Given the description of an element on the screen output the (x, y) to click on. 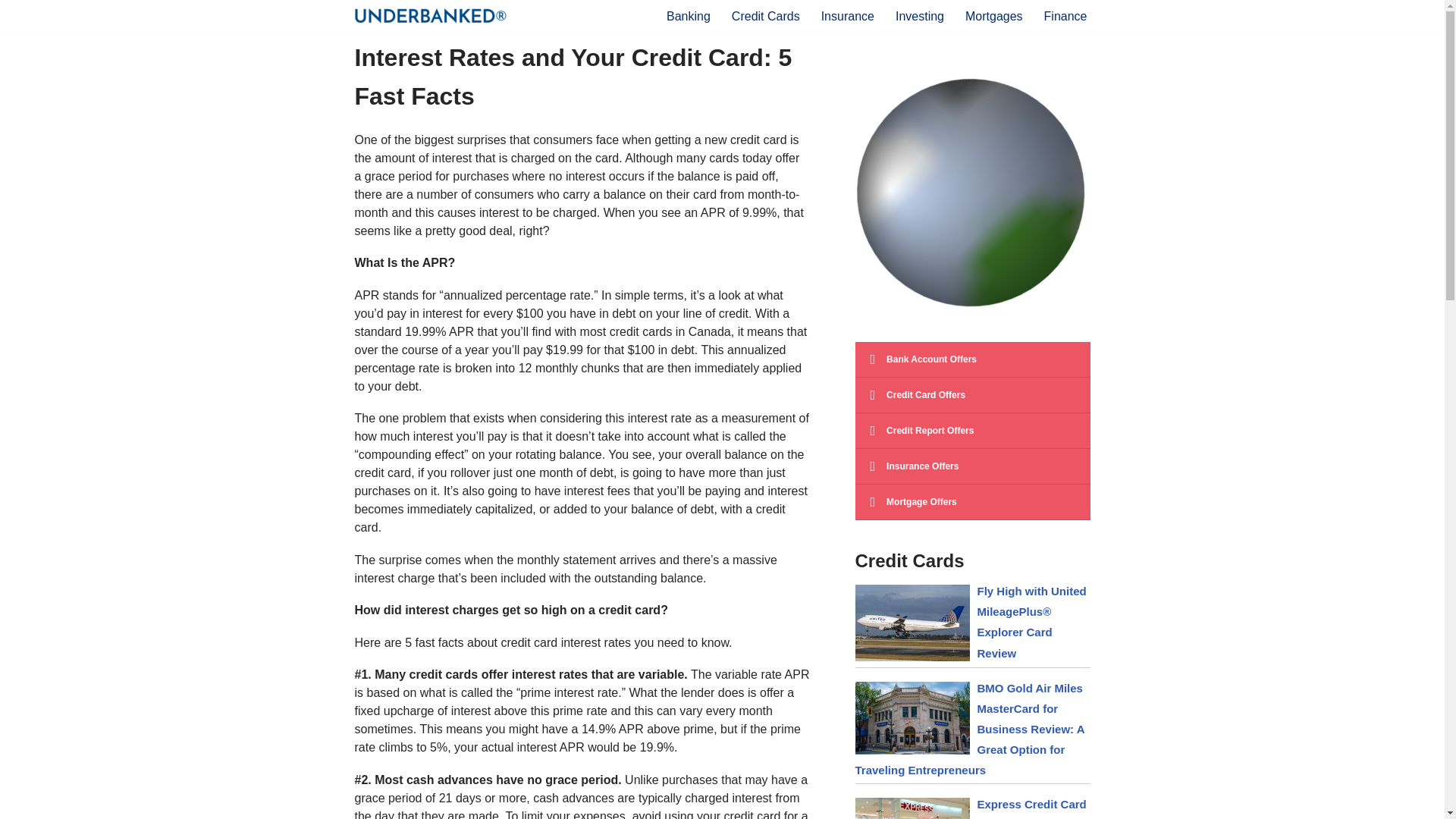
Investing (919, 15)
Insurance (848, 15)
Credit Card Offers (973, 395)
Finance (1065, 15)
Mortgage Offers (973, 502)
Skip to content (11, 31)
Express Credit Card Review (1031, 808)
Mortgages (994, 15)
